Given the description of an element on the screen output the (x, y) to click on. 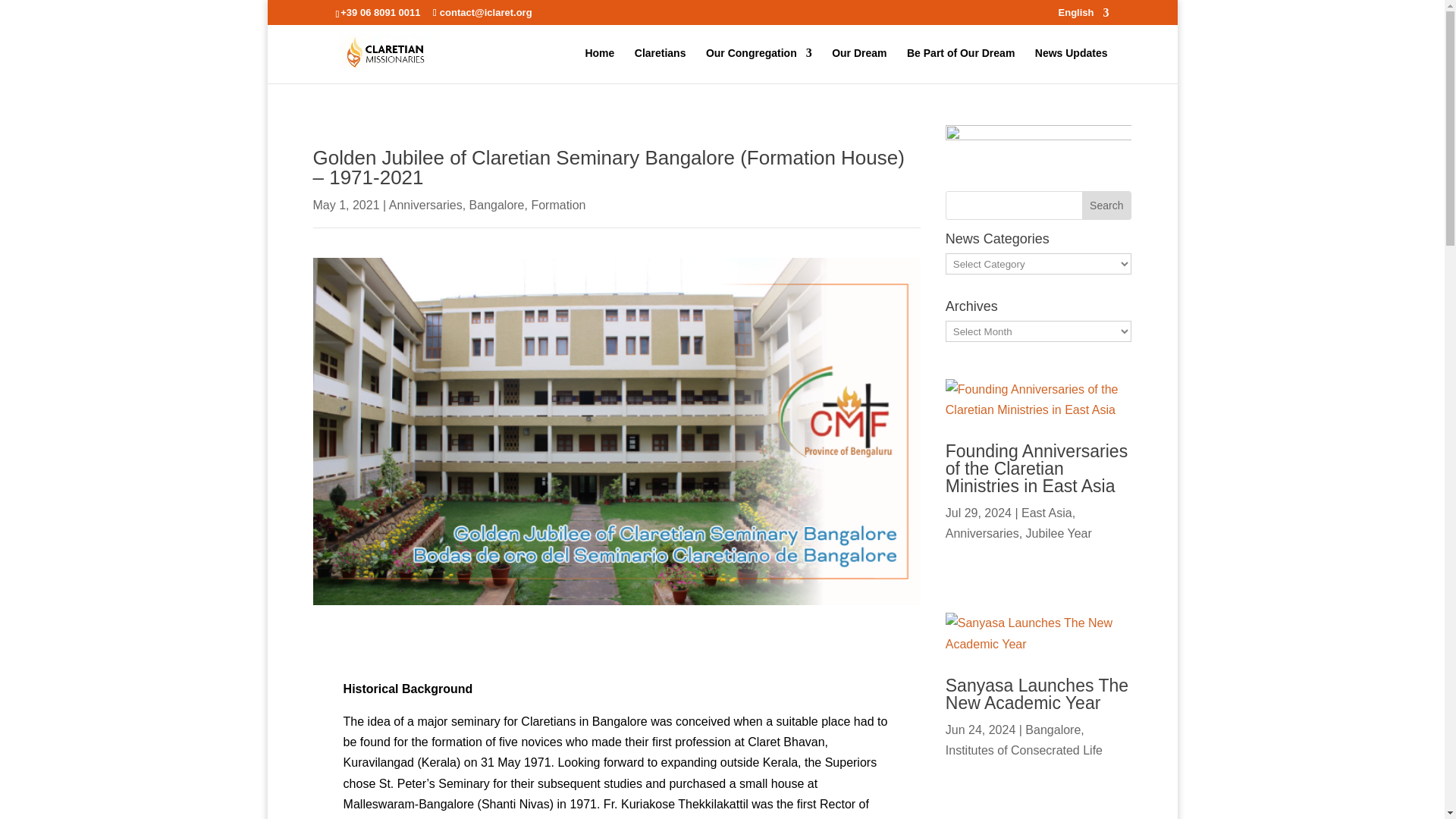
Search (1106, 204)
Anniversaries (981, 533)
East Asia (1046, 512)
Jubilee Year (1059, 533)
News Updates (1071, 65)
English (1083, 16)
Our Congregation (759, 65)
Anniversaries (425, 205)
Our Dream (858, 65)
Bangalore (496, 205)
Search (1106, 204)
Formation (558, 205)
Be Part of Our Dream (960, 65)
